Given the description of an element on the screen output the (x, y) to click on. 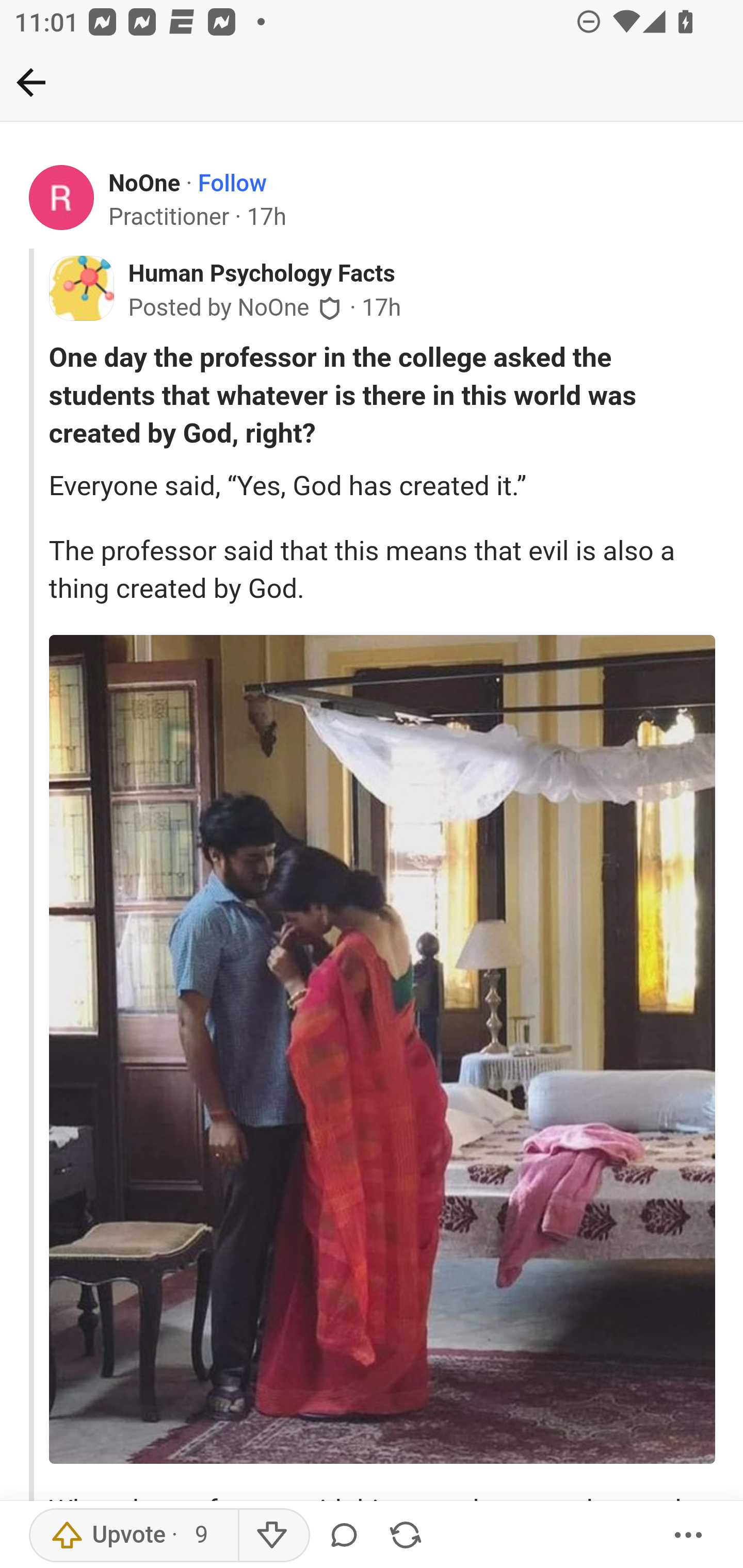
Back (30, 82)
Profile photo for NoOne (61, 198)
NoOne (145, 183)
Follow (231, 183)
Icon for Human Psychology Facts (80, 288)
Human Psychology Facts (260, 274)
main-qimg-8c93f0ef54c99314a6bb4058d1df8086 (381, 1049)
Upvote (133, 1535)
Downvote (273, 1535)
Comment (346, 1535)
Share (405, 1535)
More (688, 1535)
